Given the description of an element on the screen output the (x, y) to click on. 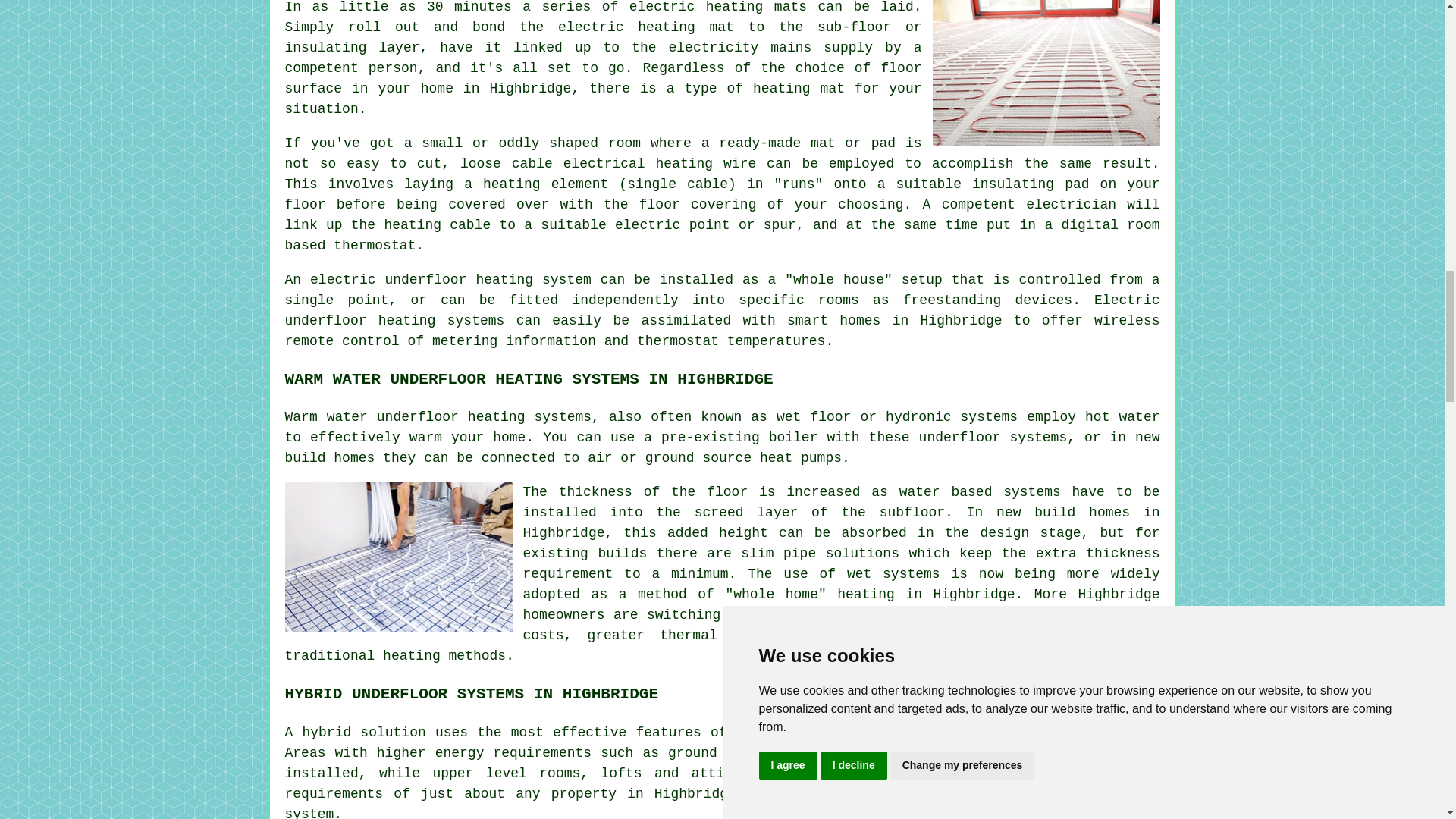
Electric Underfloor Heating Near Highbridge Somerset (1046, 73)
